Given the description of an element on the screen output the (x, y) to click on. 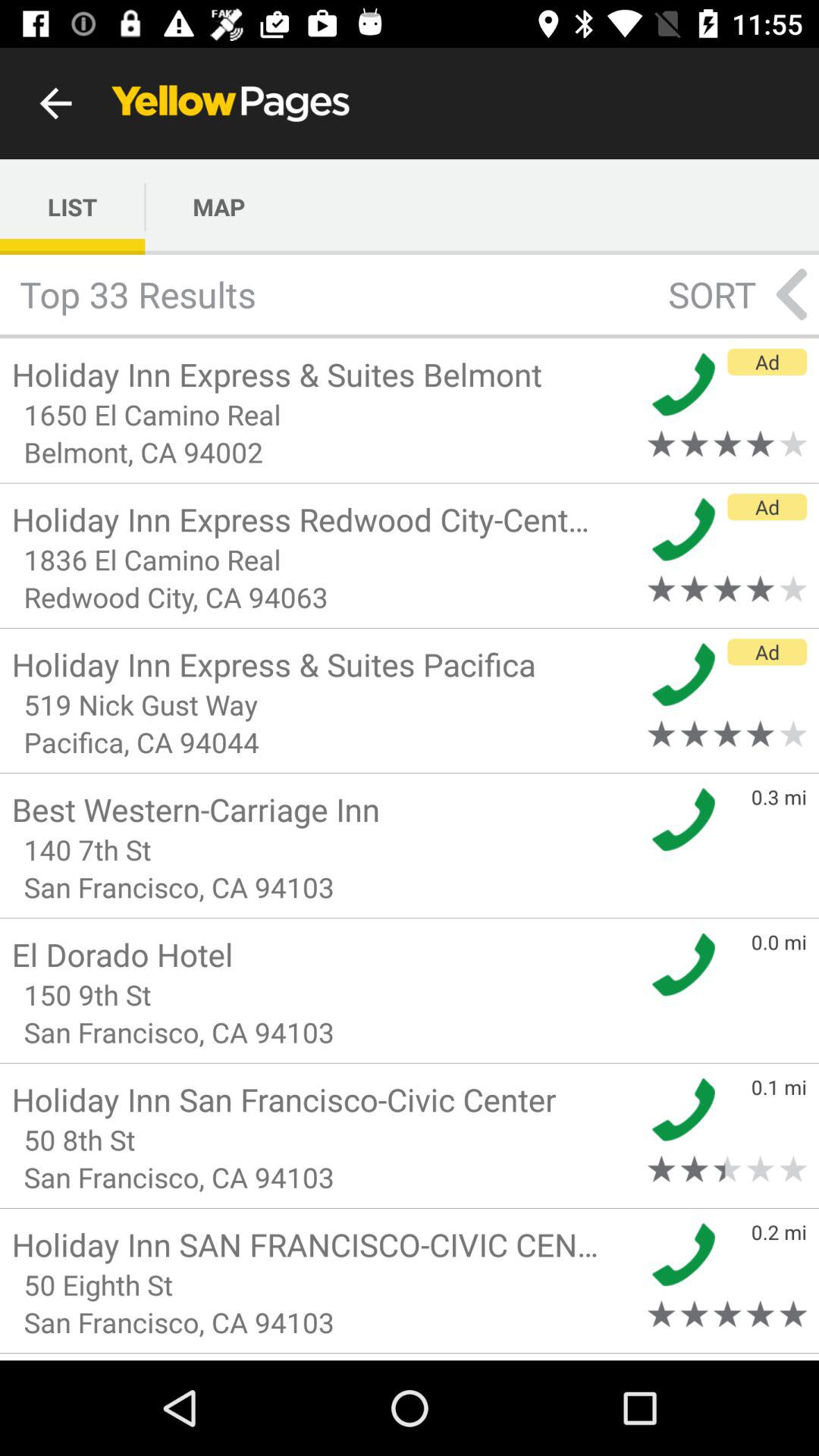
scroll until the 1650 el camino item (324, 414)
